Given the description of an element on the screen output the (x, y) to click on. 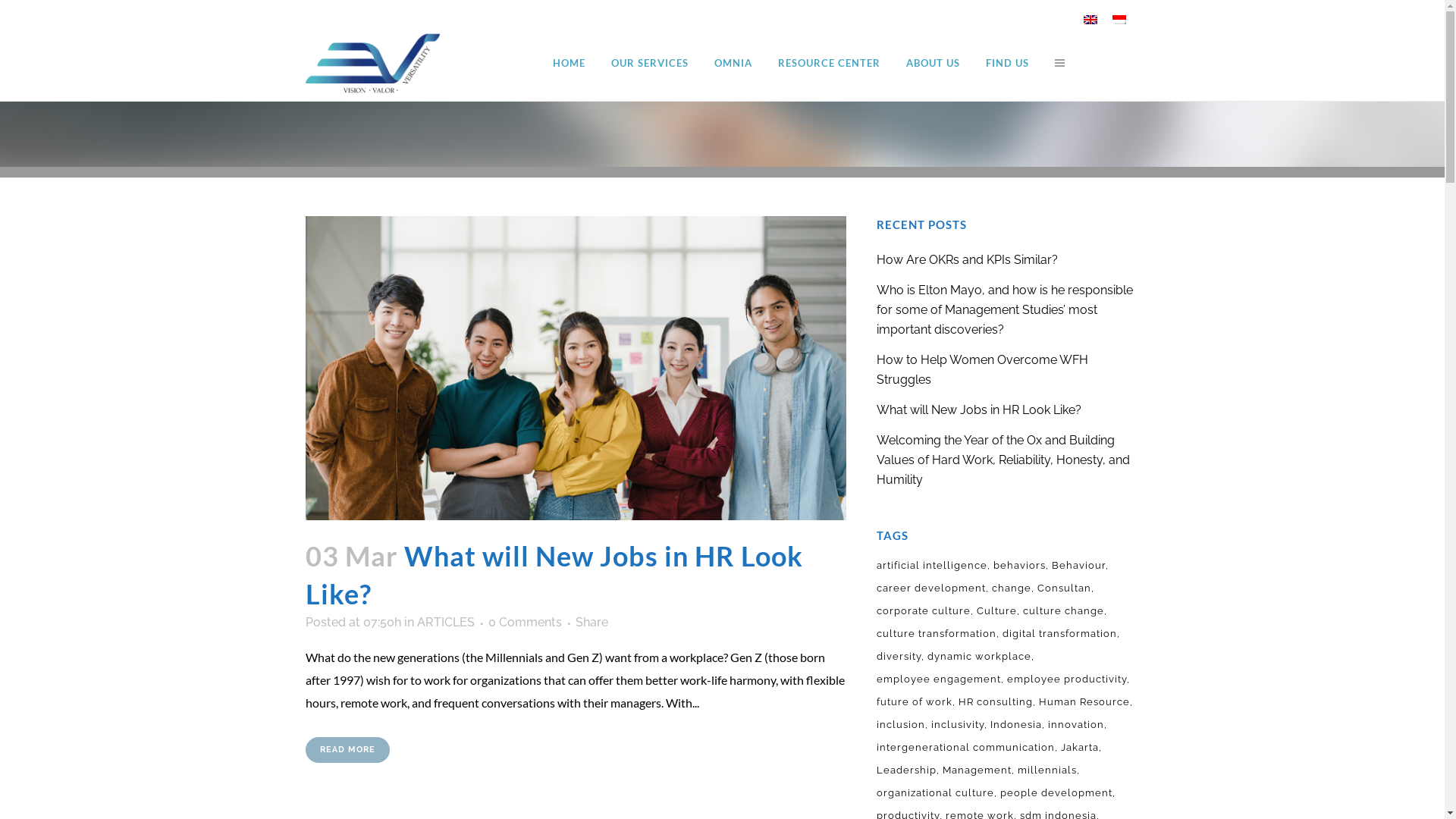
English Element type: hover (1089, 19)
culture transformation Element type: text (937, 633)
How Are OKRs and KPIs Similar? Element type: text (831, 395)
RESOURCE CENTER Element type: text (828, 62)
corporate culture Element type: text (924, 611)
HOME Element type: text (568, 62)
What will New Jobs in HR Look Like? Element type: text (553, 574)
Culture Element type: text (997, 611)
OMNIA Element type: text (732, 62)
innovation Element type: text (1077, 724)
employee productivity Element type: text (1068, 679)
Keeping Millennial Employees Engaged with CFRs Element type: text (831, 706)
Management Element type: text (978, 770)
English Element type: text (347, 607)
millennials Element type: text (1048, 770)
ABOUT US Element type: text (932, 62)
Indonesia Element type: hover (1118, 19)
digital transformation Element type: text (1061, 633)
ARTICLES Element type: text (445, 622)
intergenerational communication Element type: text (966, 747)
future of work Element type: text (915, 702)
artificial intelligence Element type: text (933, 565)
inclusivity Element type: text (959, 724)
0 Comments Element type: text (524, 622)
English Element type: hover (325, 607)
people development Element type: text (1057, 793)
inclusion Element type: text (902, 724)
OUR SERVICES Element type: text (648, 62)
culture change Element type: text (1064, 611)
Indonesia Element type: text (1017, 724)
What will New Jobs in HR Look Like? Element type: text (831, 582)
Behaviour Element type: text (1079, 565)
Indonesia Element type: hover (399, 607)
dynamic workplace Element type: text (980, 656)
What will New Jobs in HR Look Like? Element type: hover (574, 368)
diversity Element type: text (900, 656)
Leadership Element type: text (907, 770)
change Element type: text (1012, 588)
How to Help Women Overcome WFH Struggles Element type: text (982, 369)
HR consulting Element type: text (996, 702)
What will New Jobs in HR Look Like? Element type: text (978, 409)
employee engagement Element type: text (940, 679)
Consultan Element type: text (1065, 588)
behaviors Element type: text (1020, 565)
FIND US Element type: text (1006, 62)
How Are OKRs and KPIs Similar? Element type: text (966, 259)
Indonesia Element type: text (428, 607)
Jakarta Element type: text (1080, 747)
How to Help Women Overcome WFH Struggles Element type: text (831, 529)
Human Resource Element type: text (1085, 702)
READ MORE Element type: text (346, 749)
career development Element type: text (932, 588)
  Element type: text (1055, 62)
organizational culture Element type: text (936, 793)
Share Element type: text (590, 622)
